Given the description of an element on the screen output the (x, y) to click on. 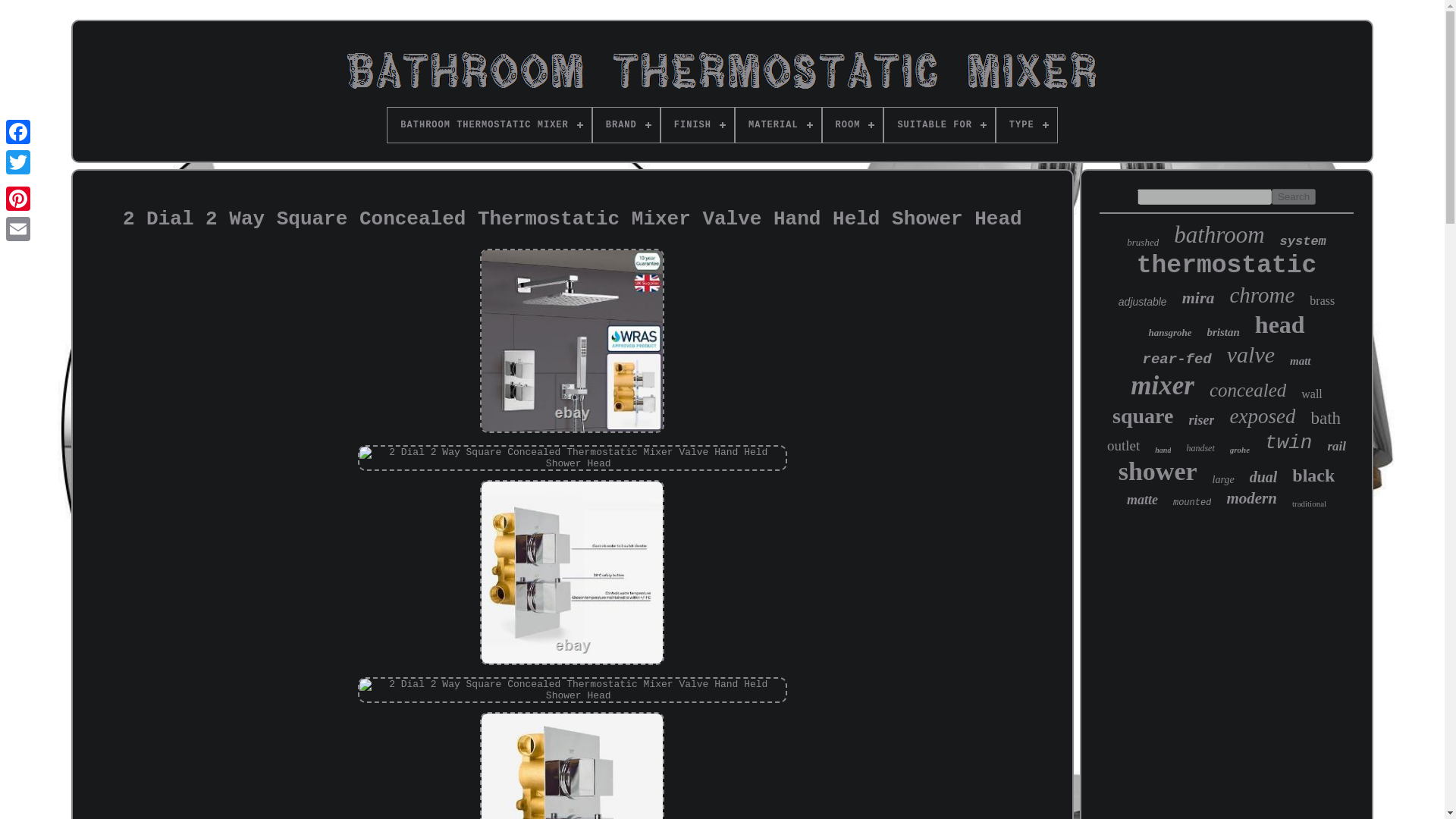
FINISH (697, 124)
BATHROOM THERMOSTATIC MIXER (489, 124)
Search (1293, 196)
BRAND (625, 124)
